Given the description of an element on the screen output the (x, y) to click on. 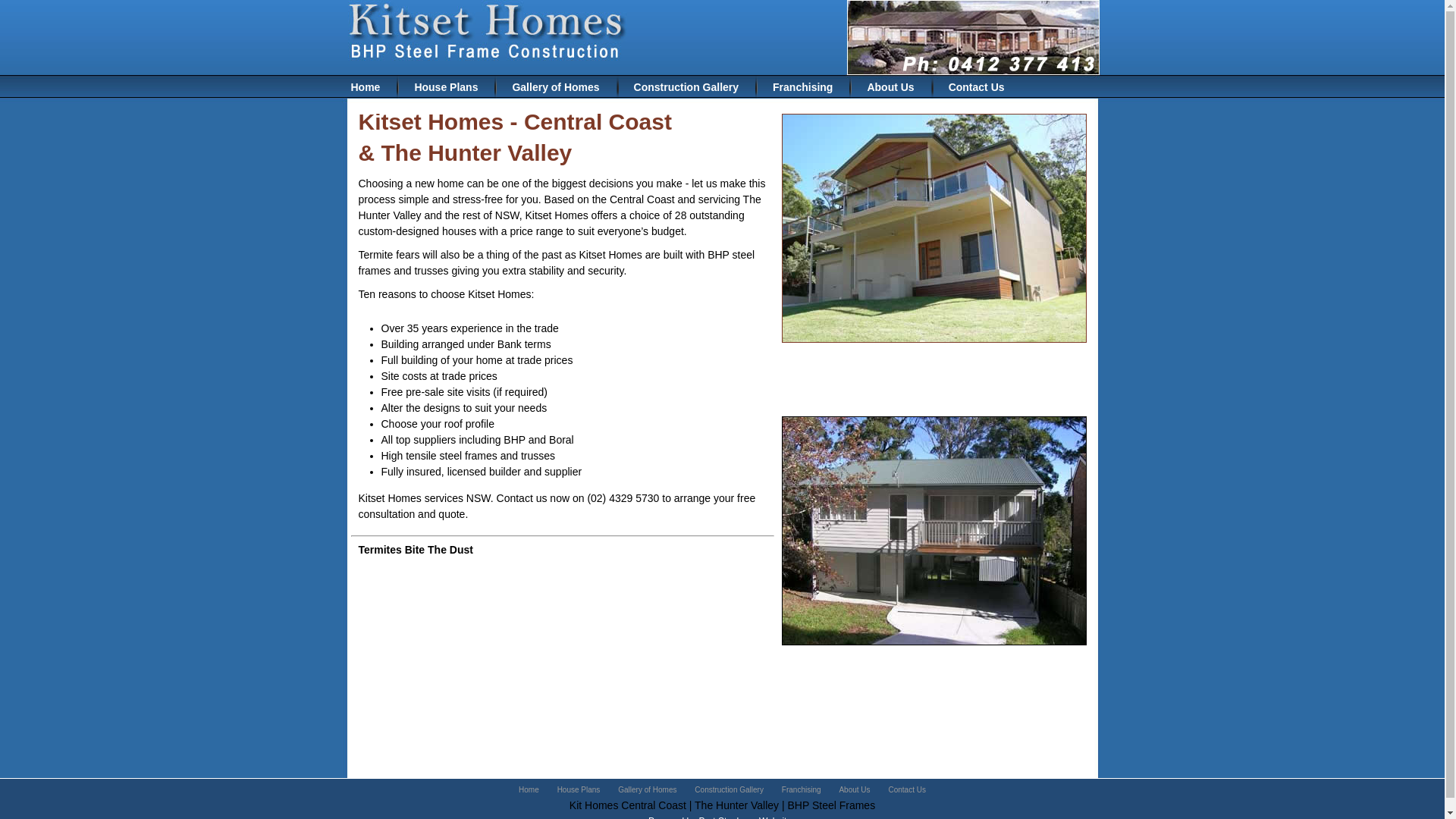
House Plans Element type: text (578, 789)
About Us Element type: text (891, 87)
Construction Gallery Element type: text (729, 789)
Gallery of Homes Element type: text (557, 87)
Contact Us Element type: text (906, 789)
About Us Element type: text (854, 789)
Franchising Element type: text (804, 87)
Home Element type: text (528, 789)
House Plans Element type: text (447, 87)
Franchising Element type: text (801, 789)
Contact Us Element type: text (978, 87)
Gallery of Homes Element type: text (647, 789)
how to choose cbd hemp oil for sale Element type: text (532, 573)
Construction Gallery Element type: text (687, 87)
Home Element type: text (366, 87)
